Given the description of an element on the screen output the (x, y) to click on. 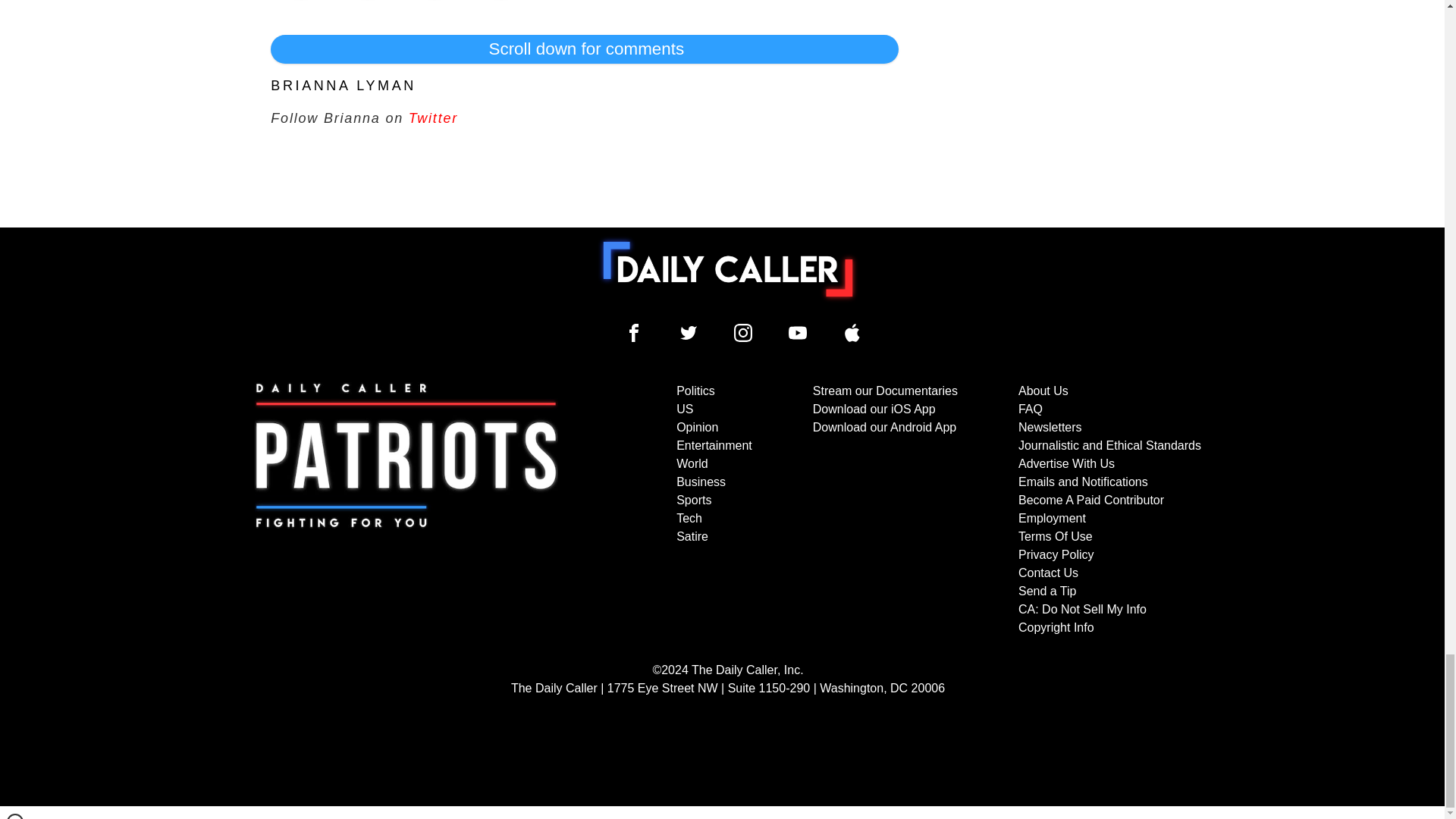
Daily Caller YouTube (852, 332)
Scroll down for comments (584, 49)
Daily Caller YouTube (797, 332)
Daily Caller Twitter (688, 332)
Daily Caller Instagram (742, 332)
To home page (727, 268)
Subscribe to The Daily Caller (405, 509)
Daily Caller Facebook (633, 332)
